Given the description of an element on the screen output the (x, y) to click on. 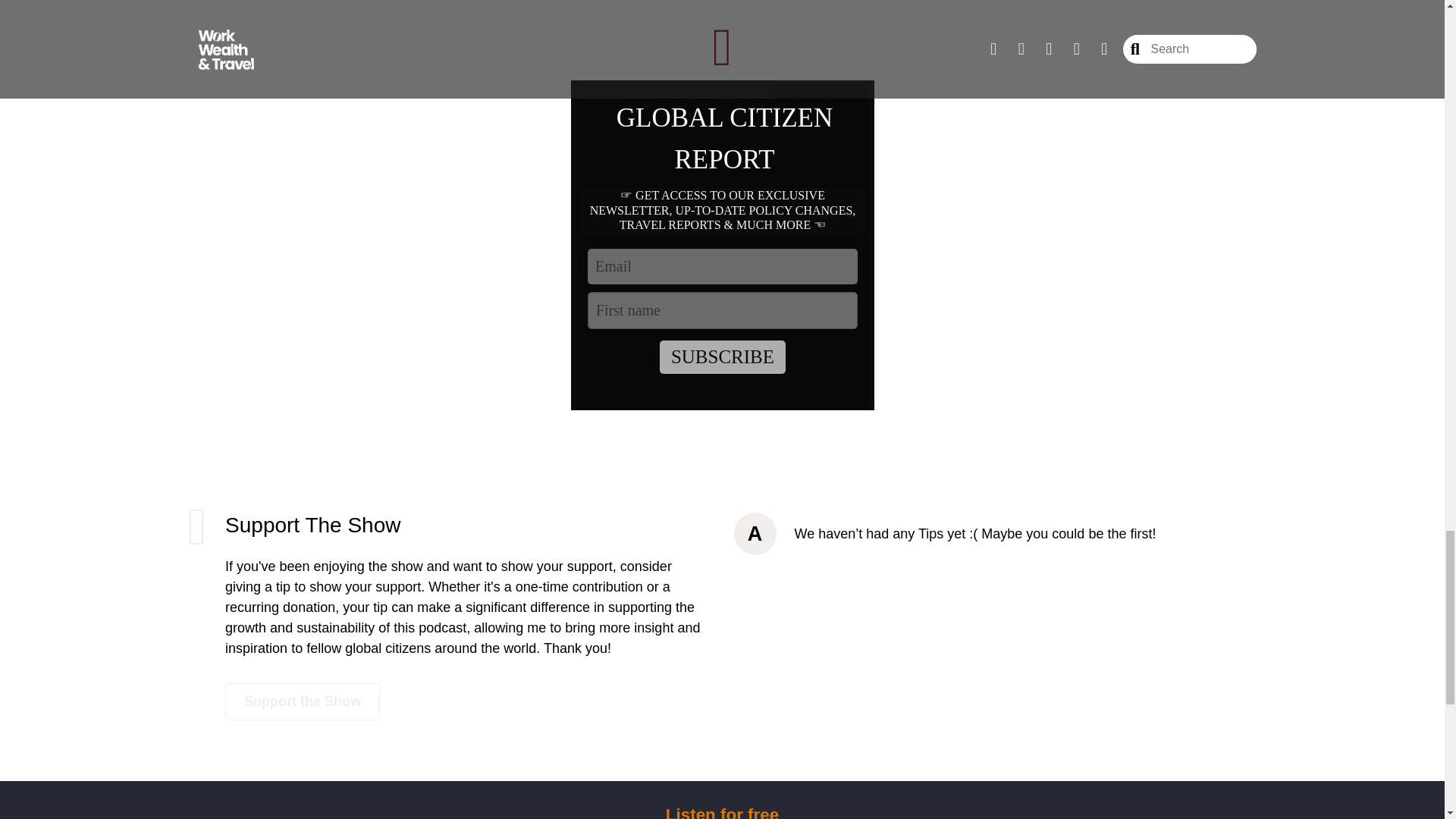
Support the Show (302, 701)
